Given the description of an element on the screen output the (x, y) to click on. 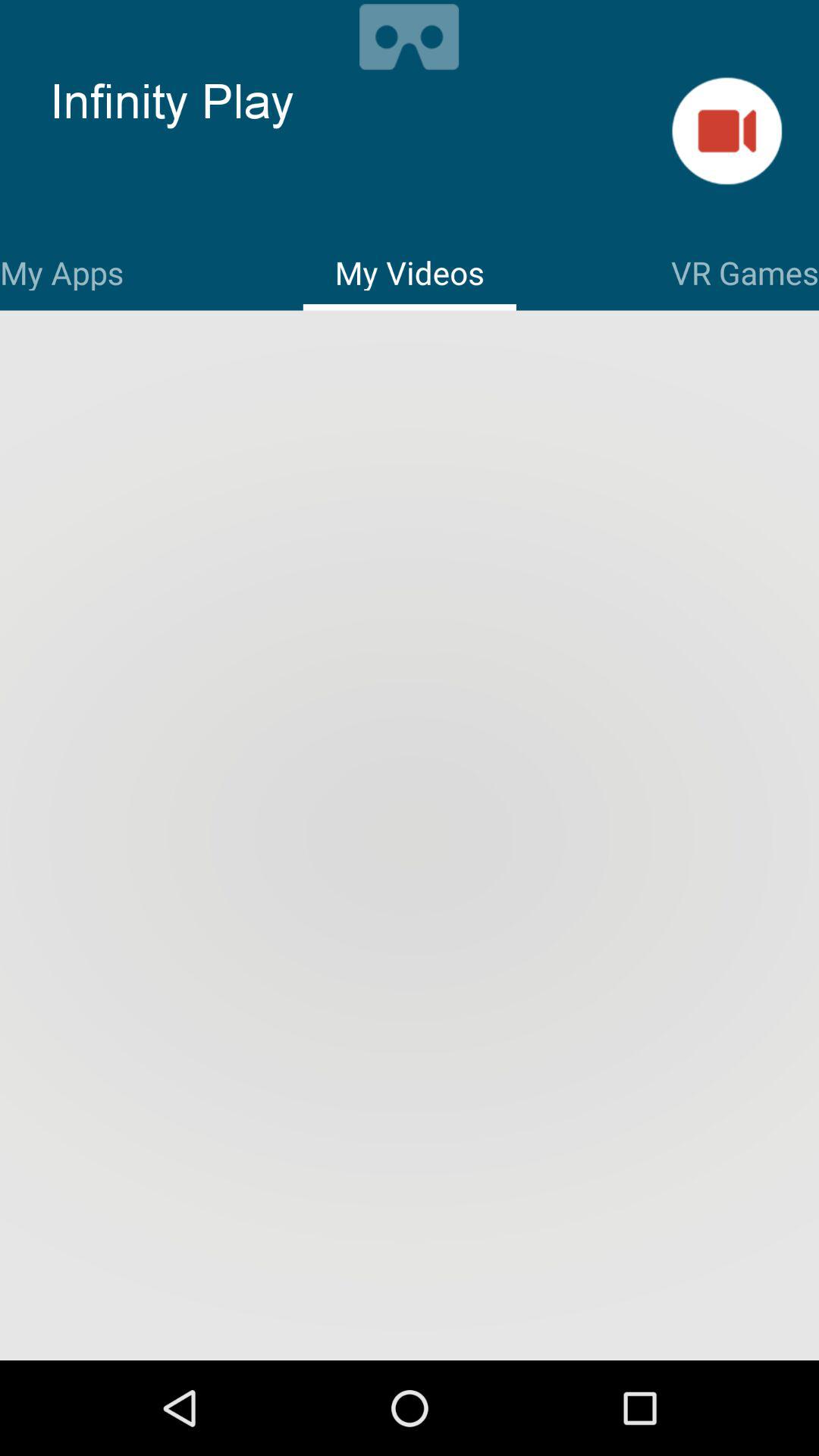
choose item to the right of my videos app (745, 270)
